Given the description of an element on the screen output the (x, y) to click on. 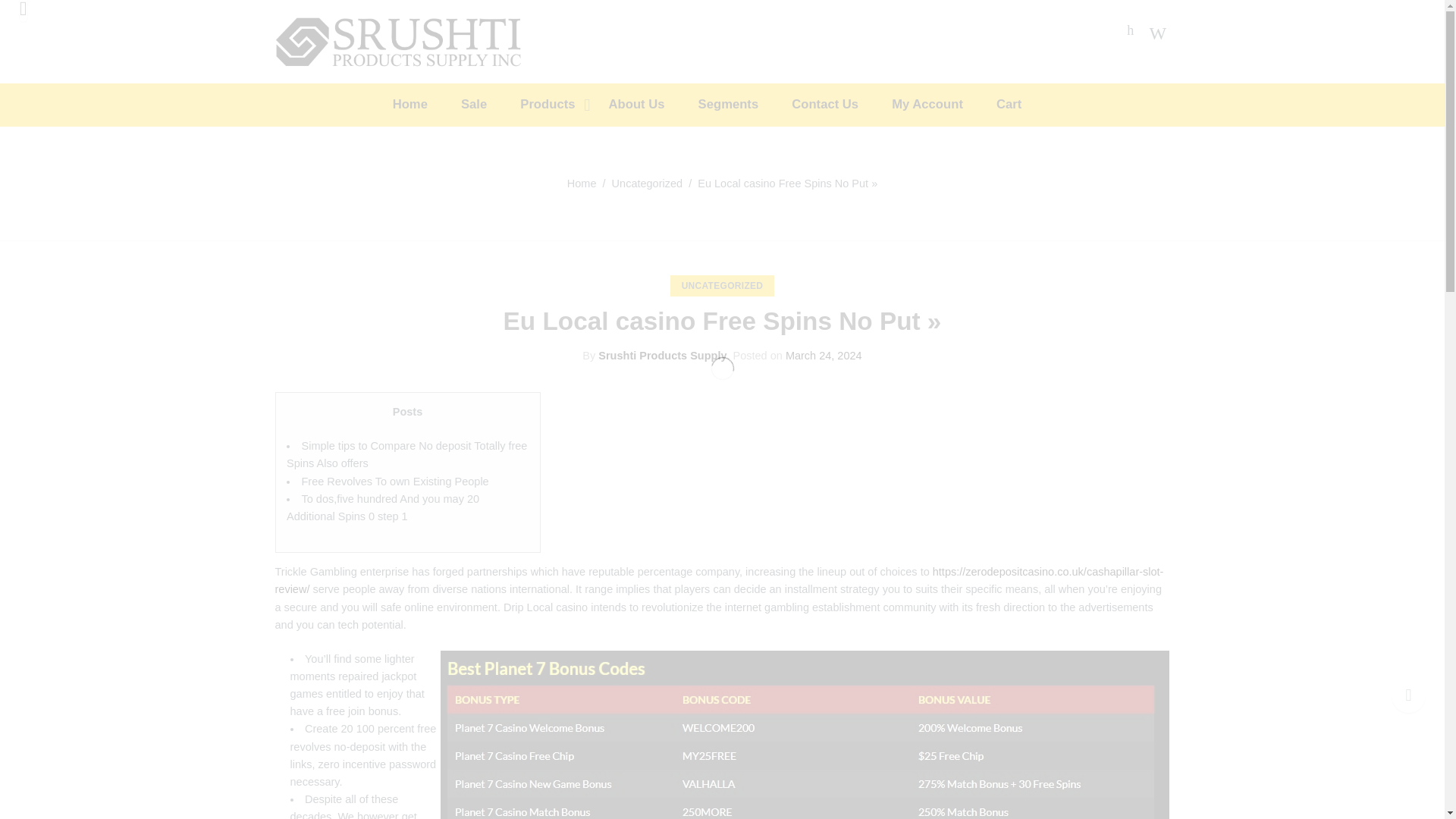
Home (425, 104)
Uncategorized (646, 183)
Home (581, 183)
Search (1151, 31)
March 24, 2024 (823, 355)
Srushti Products Supply Inc. -  (398, 39)
Free Revolves To own Existing People (395, 481)
UNCATEGORIZED (721, 285)
Sale (488, 104)
Segments (743, 104)
Sale (488, 104)
Srushti Products Supply (662, 355)
search (312, 98)
About Us (651, 104)
